Given the description of an element on the screen output the (x, y) to click on. 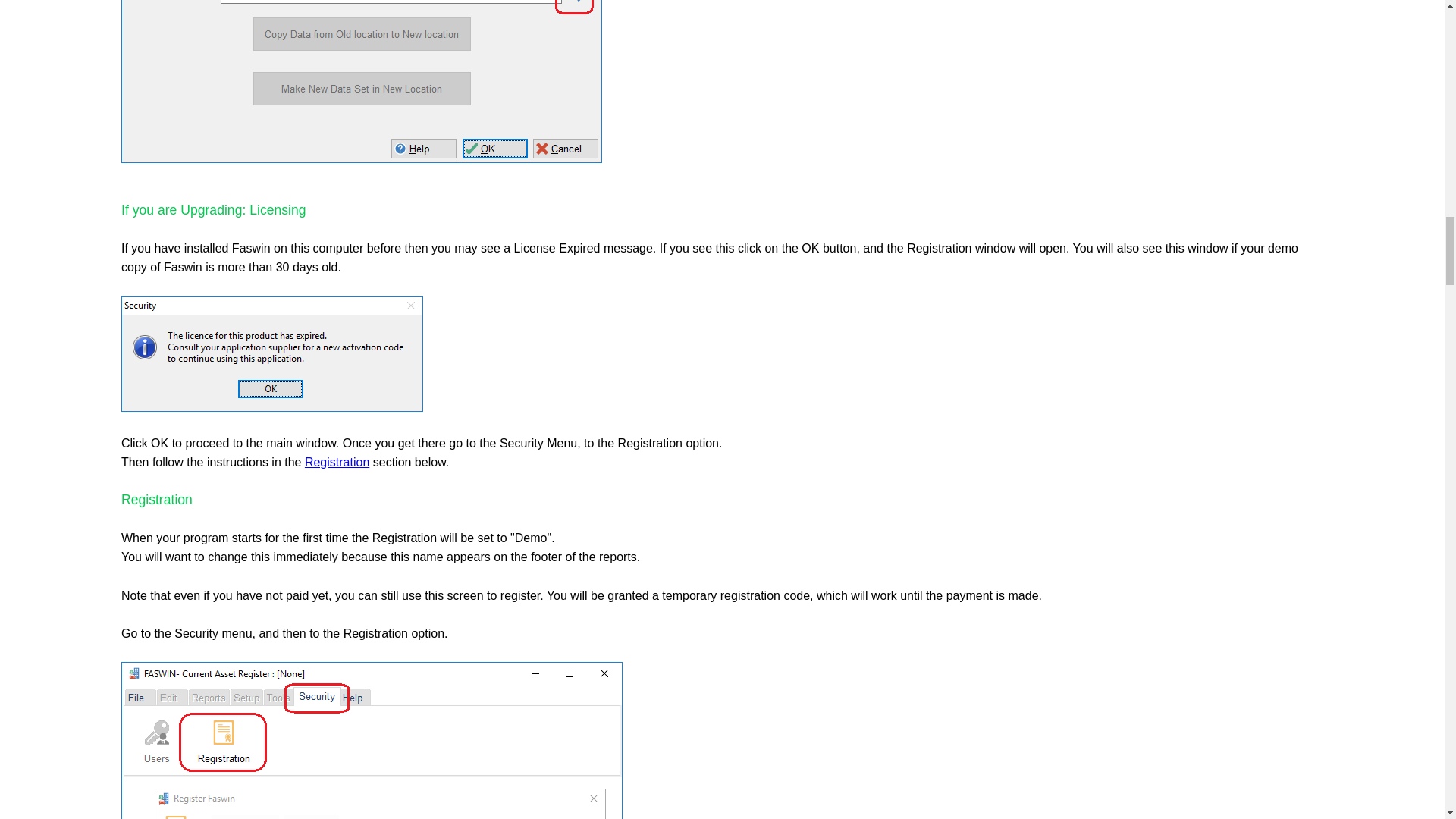
Registration (336, 461)
